Given the description of an element on the screen output the (x, y) to click on. 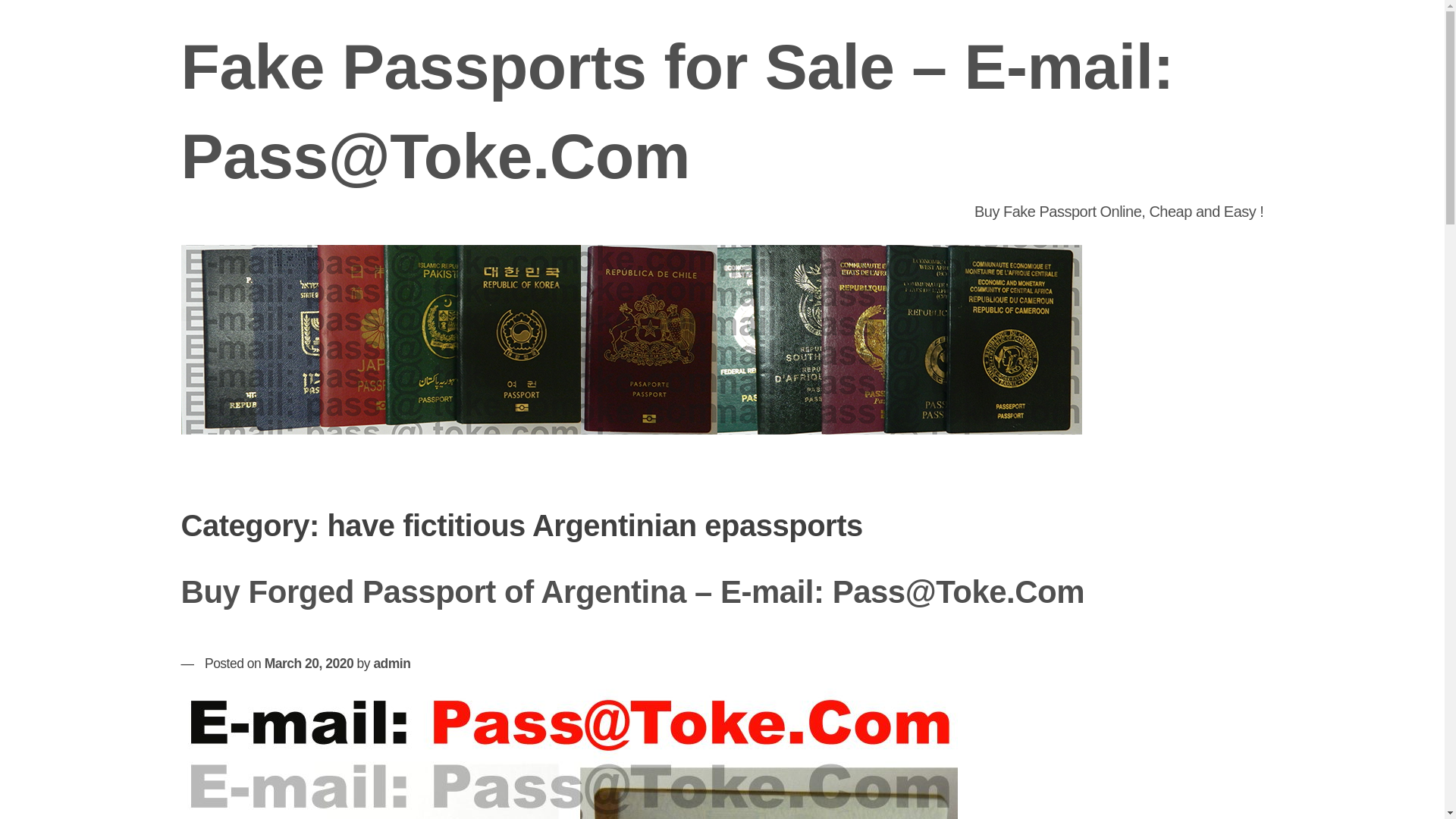
Buy Forged Passport of Argentina (569, 753)
March 20, 2020 (308, 663)
admin (391, 663)
